Given the description of an element on the screen output the (x, y) to click on. 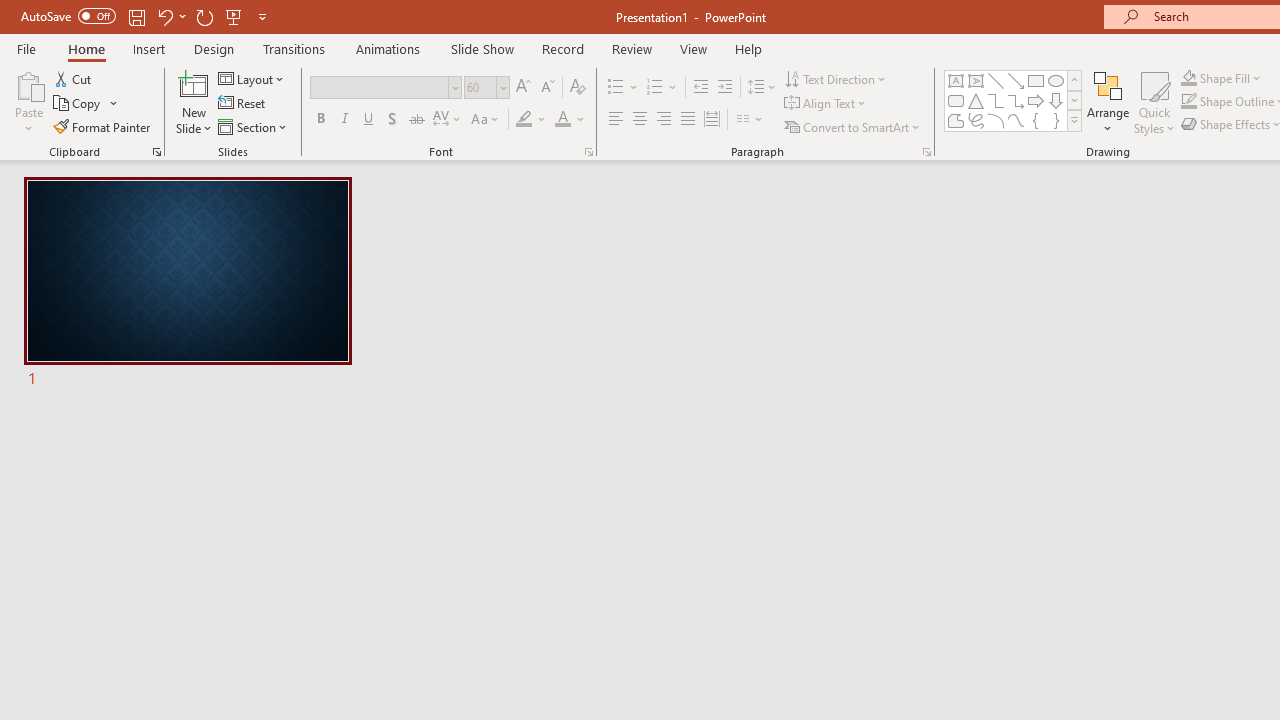
Convert to SmartArt (853, 126)
Paragraph... (926, 151)
Increase Font Size (522, 87)
Text Direction (836, 78)
Freeform: Scribble (975, 120)
Connector: Elbow Arrow (1016, 100)
Curve (1016, 120)
